Given the description of an element on the screen output the (x, y) to click on. 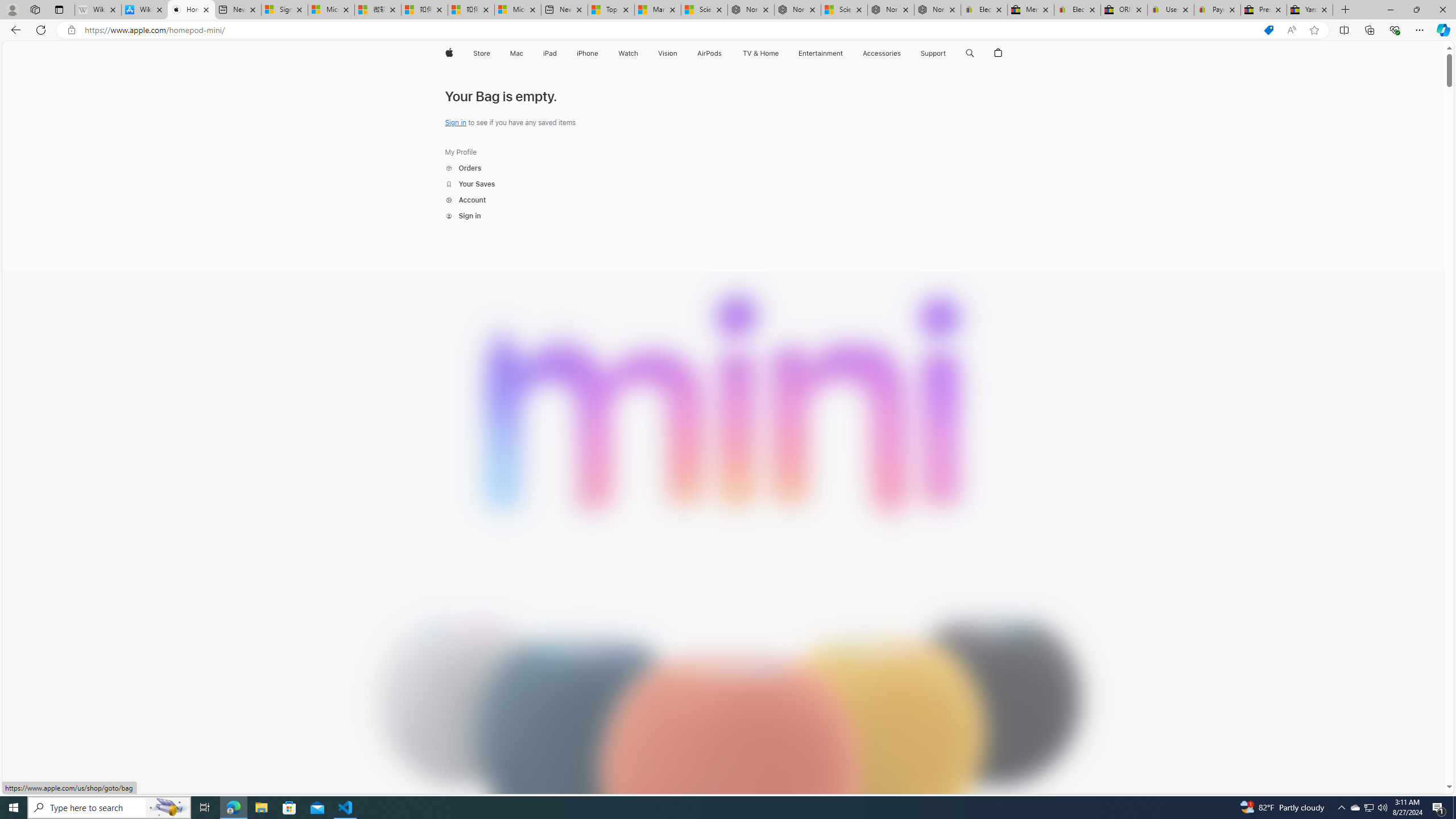
Account (465, 199)
TV and Home menu (780, 53)
iPad (550, 53)
AirPods menu (723, 53)
Nordace - FAQ (937, 9)
